Given the description of an element on the screen output the (x, y) to click on. 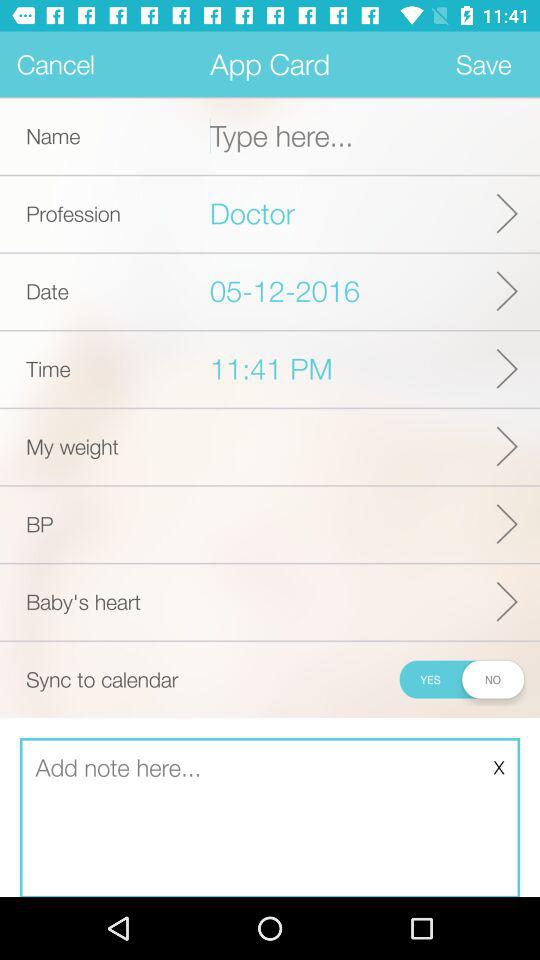
select to sync to calendar (460, 679)
